Given the description of an element on the screen output the (x, y) to click on. 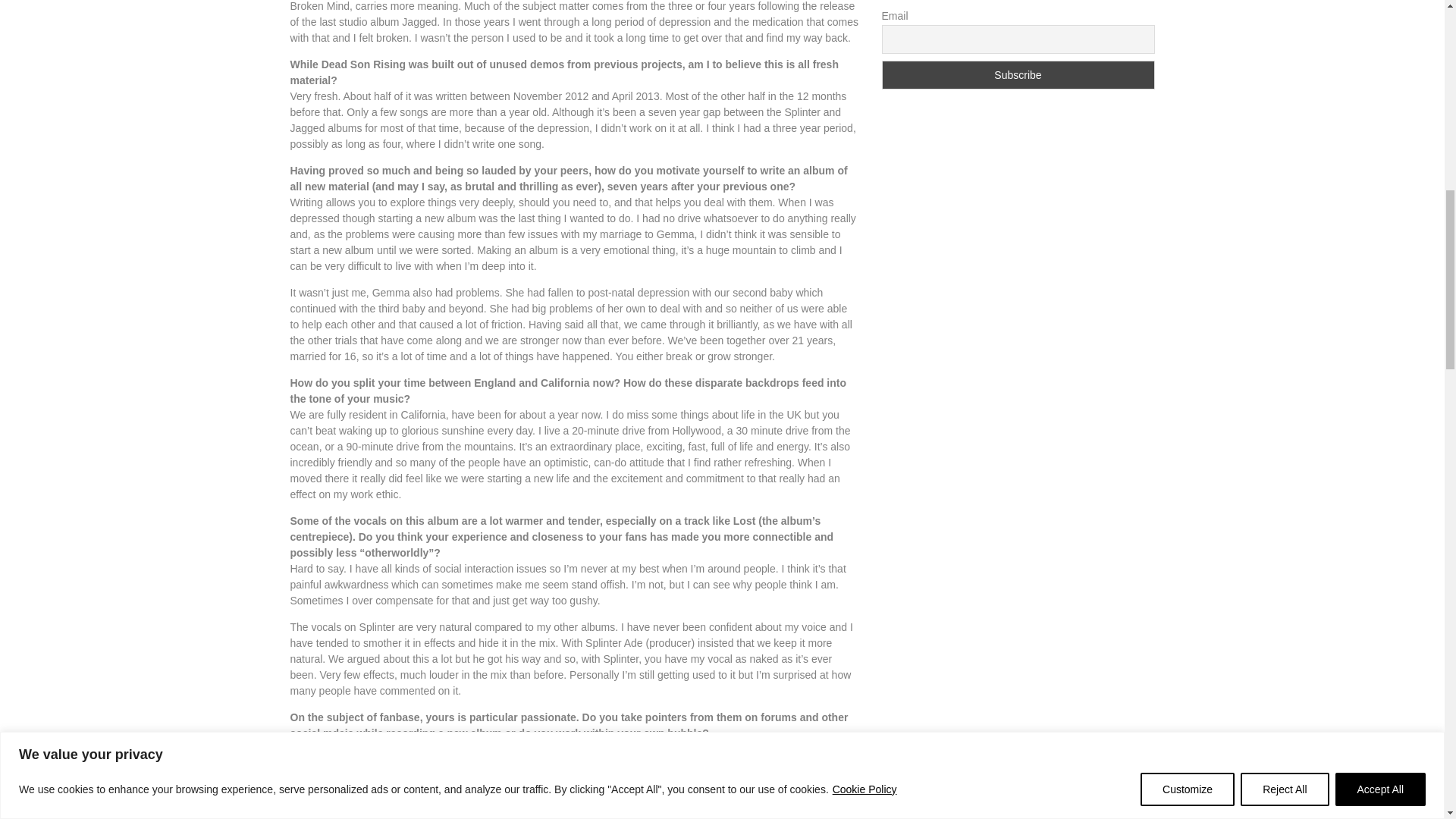
Subscribe (1017, 74)
